Given the description of an element on the screen output the (x, y) to click on. 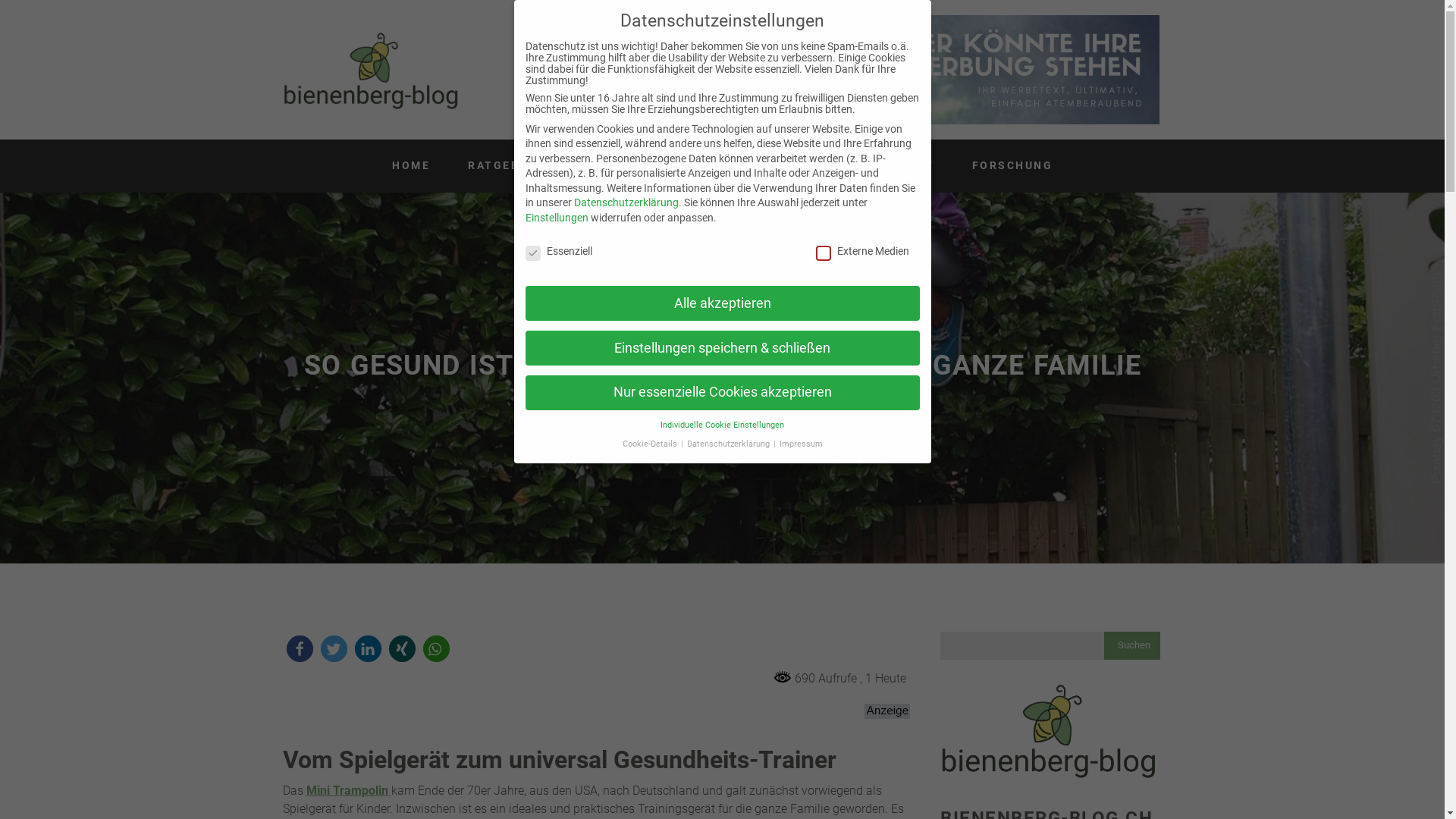
NATUR Element type: text (699, 165)
FORSCHUNG Element type: text (1012, 165)
Bei Facebook teilen Element type: hover (299, 648)
Gesundheit Element type: text (787, 394)
Bei Whatsapp teilen Element type: hover (436, 648)
Cookie-Details Element type: text (649, 443)
TIERWELT Element type: text (606, 165)
GESUNDHEIT Element type: text (891, 165)
Impressum Element type: text (800, 443)
Garten Element type: text (738, 394)
Mini Trampolin Element type: text (348, 790)
Alle akzeptieren Element type: text (721, 302)
April 1, 2021 Element type: text (618, 395)
Bei XING teilen Element type: hover (401, 648)
Nur essenzielle Cookies akzeptieren Element type: text (721, 392)
Suchen Element type: text (1134, 645)
GARTEN Element type: text (784, 165)
Ratgeber Element type: text (844, 394)
Bei Twitter teilen Element type: hover (333, 648)
Einstellungen Element type: text (555, 217)
HOME Element type: text (410, 165)
Individuelle Cookie Einstellungen Element type: text (722, 424)
Bei LinkedIn teilen Element type: hover (367, 648)
RATGEBER Element type: text (501, 165)
